Given the description of an element on the screen output the (x, y) to click on. 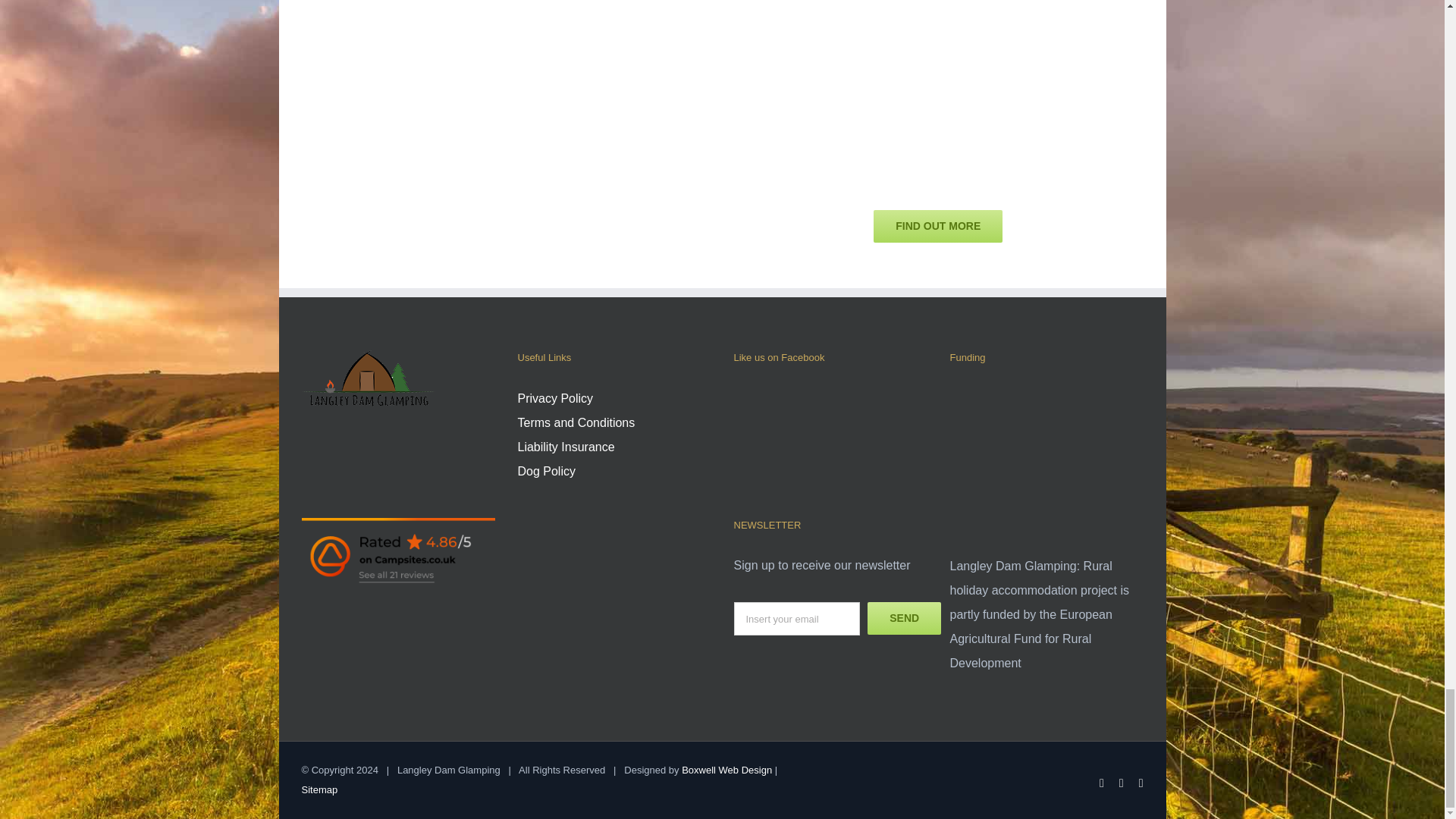
Send (903, 617)
